Given the description of an element on the screen output the (x, y) to click on. 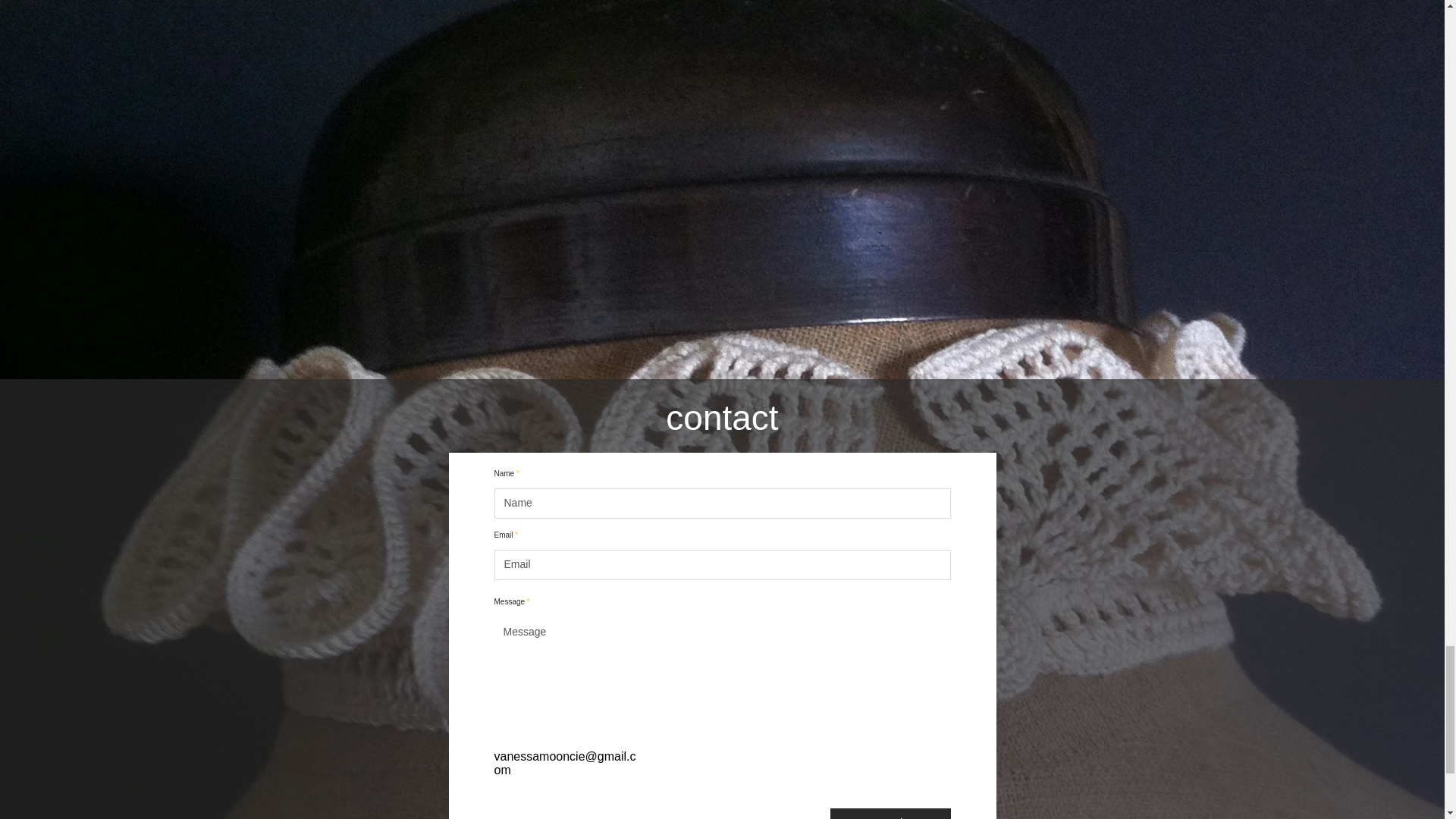
Send (889, 813)
